Given the description of an element on the screen output the (x, y) to click on. 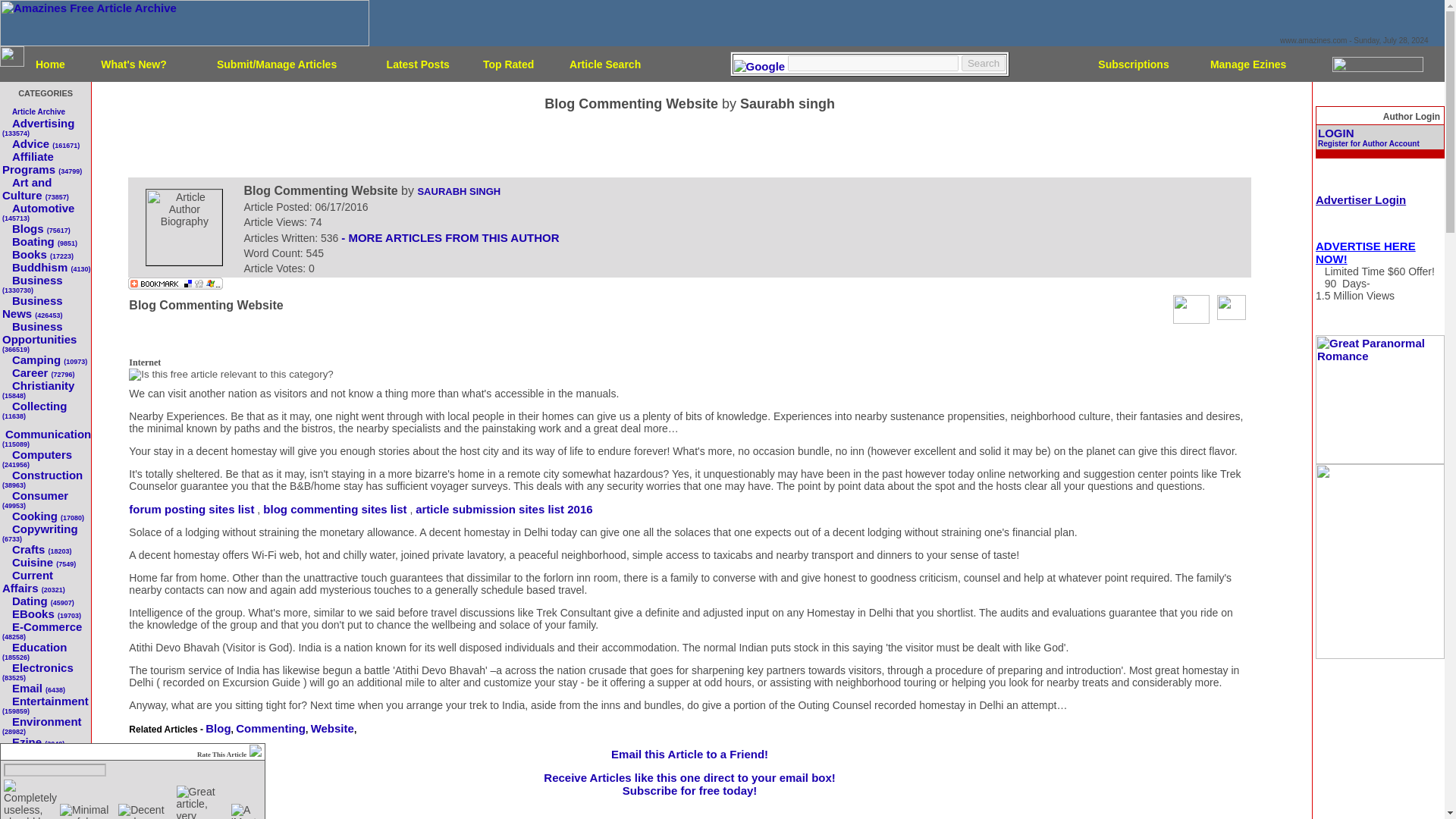
Search (983, 63)
Article Archive (38, 110)
What's New? (133, 63)
Bookmark using any bookmark manager! (175, 285)
Manage Ezines (1247, 63)
Article Search (604, 63)
Subscriptions (1133, 63)
Home (49, 63)
Top Rated (508, 63)
Search (983, 63)
Latest Posts (418, 63)
